Given the description of an element on the screen output the (x, y) to click on. 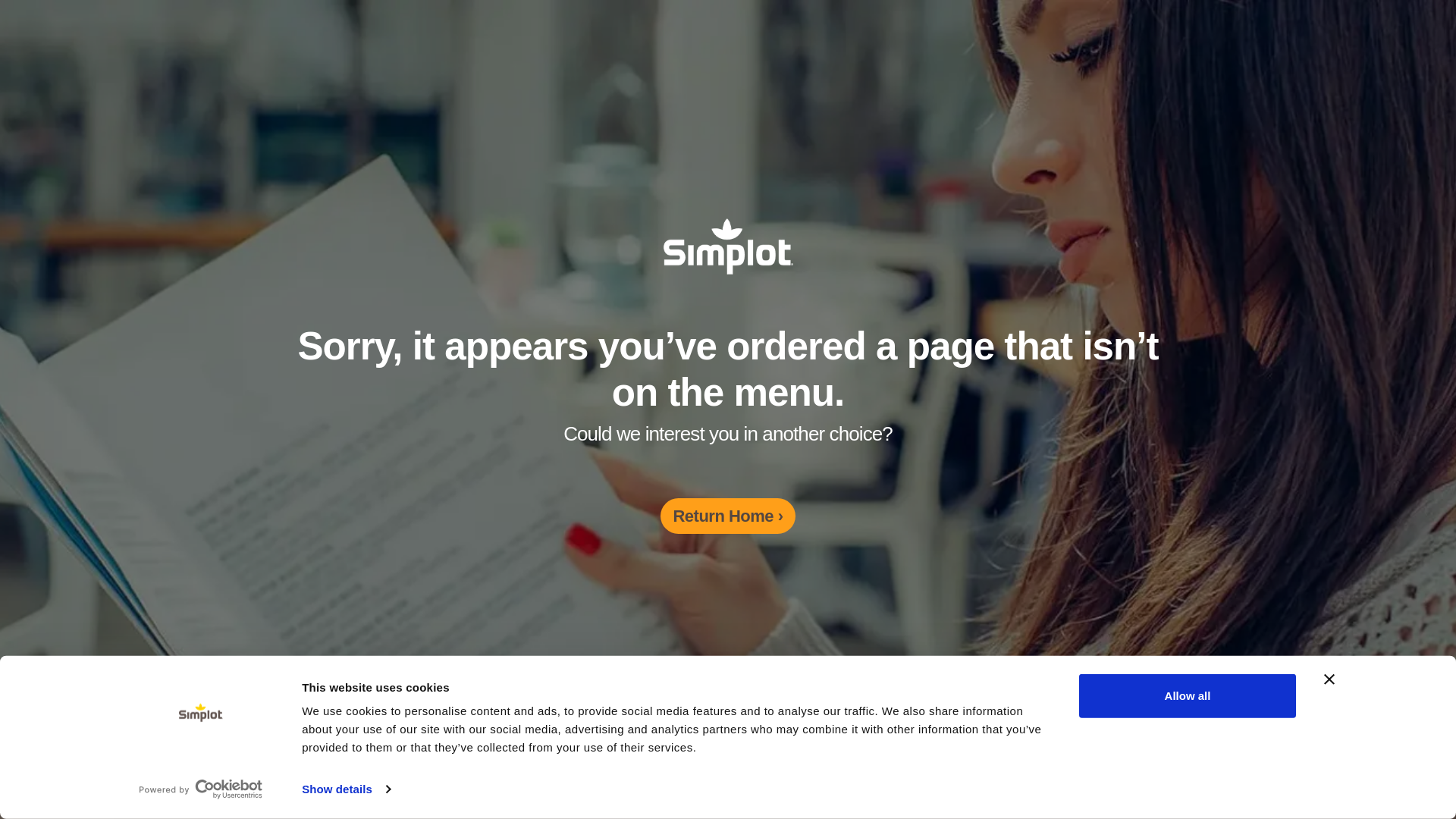
Show details (345, 789)
